Given the description of an element on the screen output the (x, y) to click on. 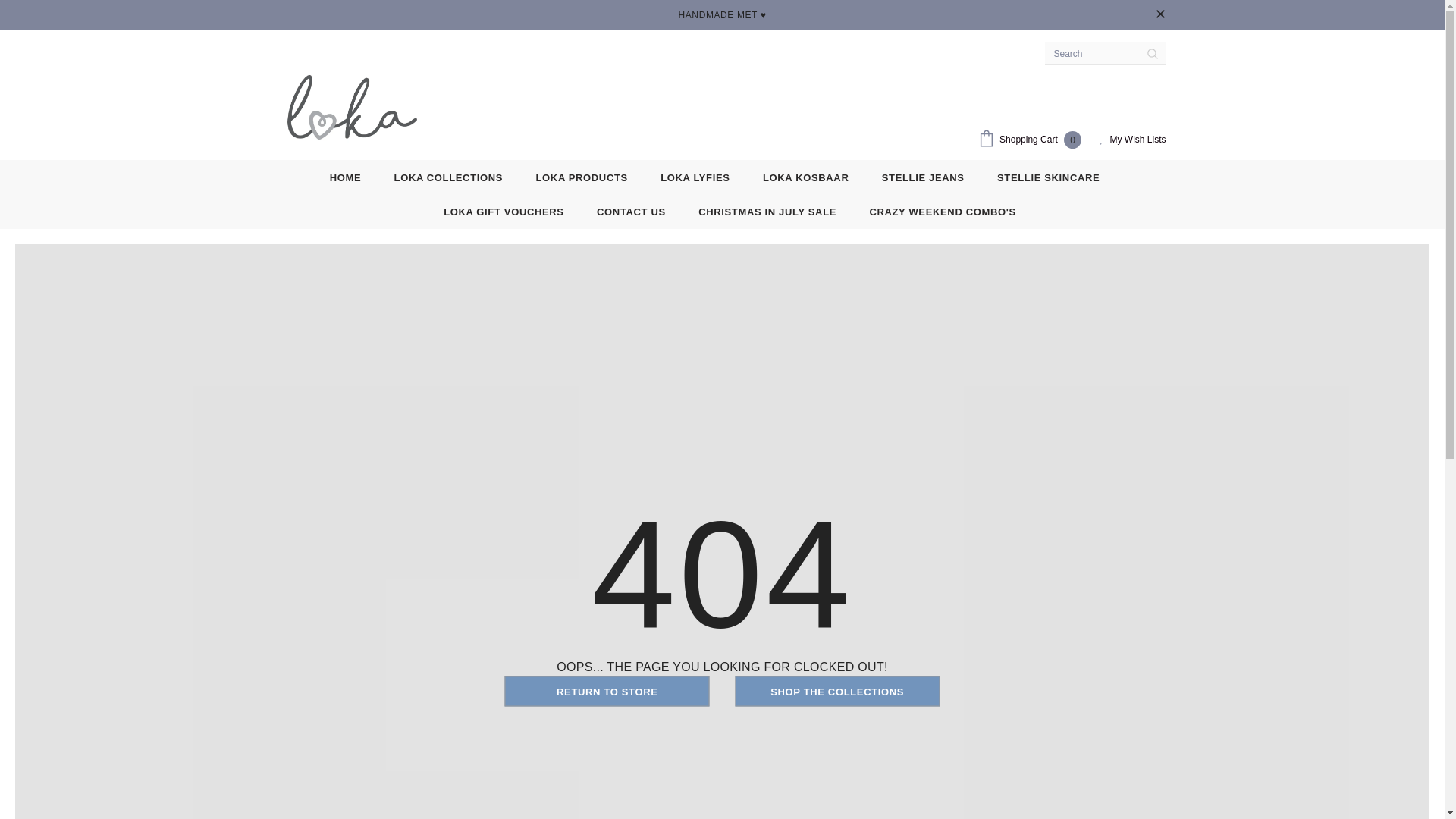
HOME (345, 176)
Shopping Cart 0 (1033, 140)
My Wish Lists (1132, 140)
close (1160, 14)
LOKA COLLECTIONS (448, 176)
